Given the description of an element on the screen output the (x, y) to click on. 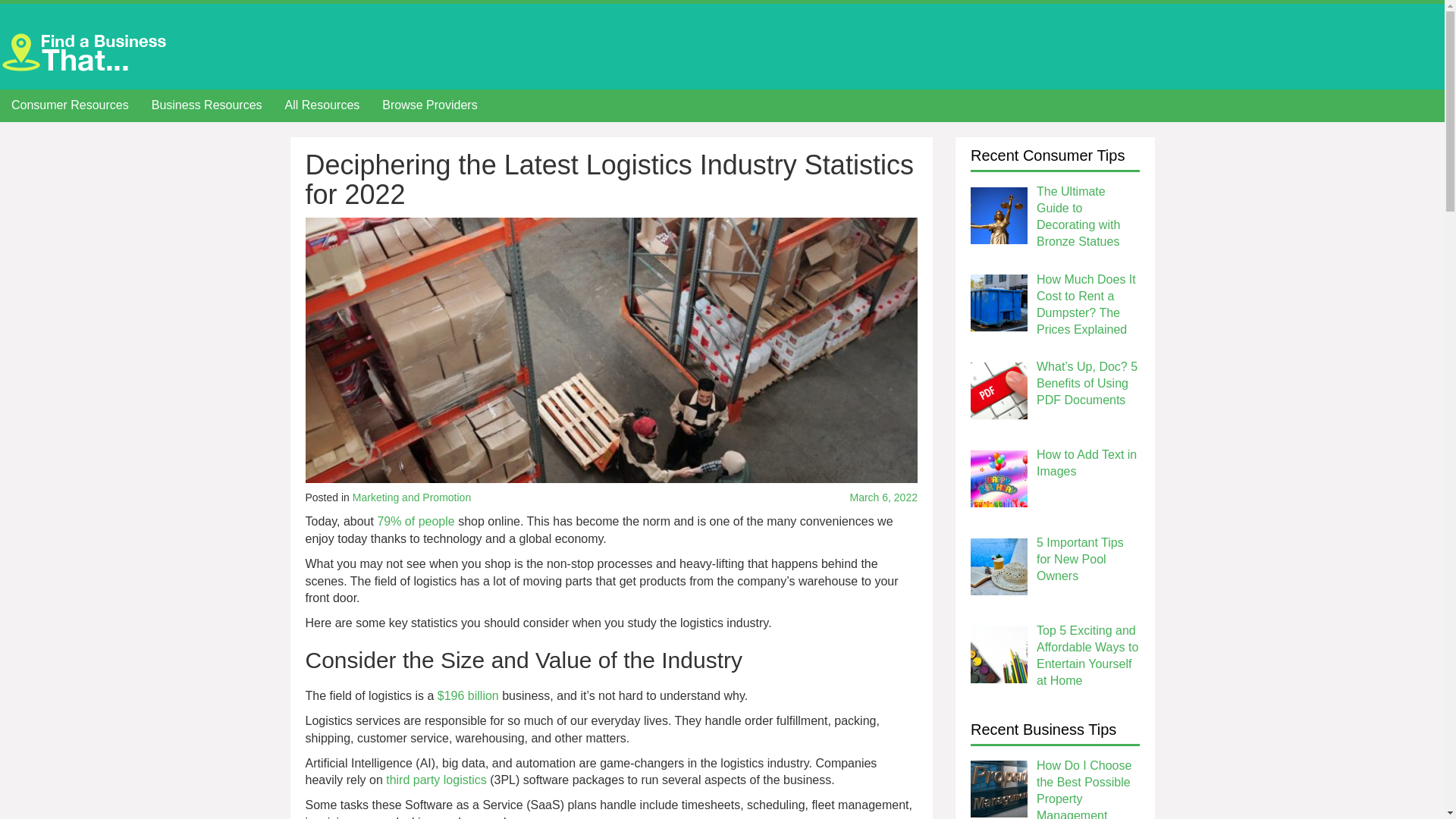
third party logistics (435, 779)
All Resources (322, 105)
March 6, 2022 (823, 498)
FindABusinessThat.com (87, 51)
Business Resources (206, 105)
Marketing and Promotion (411, 497)
Browse Providers (429, 105)
Consumer Resources (69, 105)
The Ultimate Guide to Decorating with Bronze Statues (1077, 216)
